Given the description of an element on the screen output the (x, y) to click on. 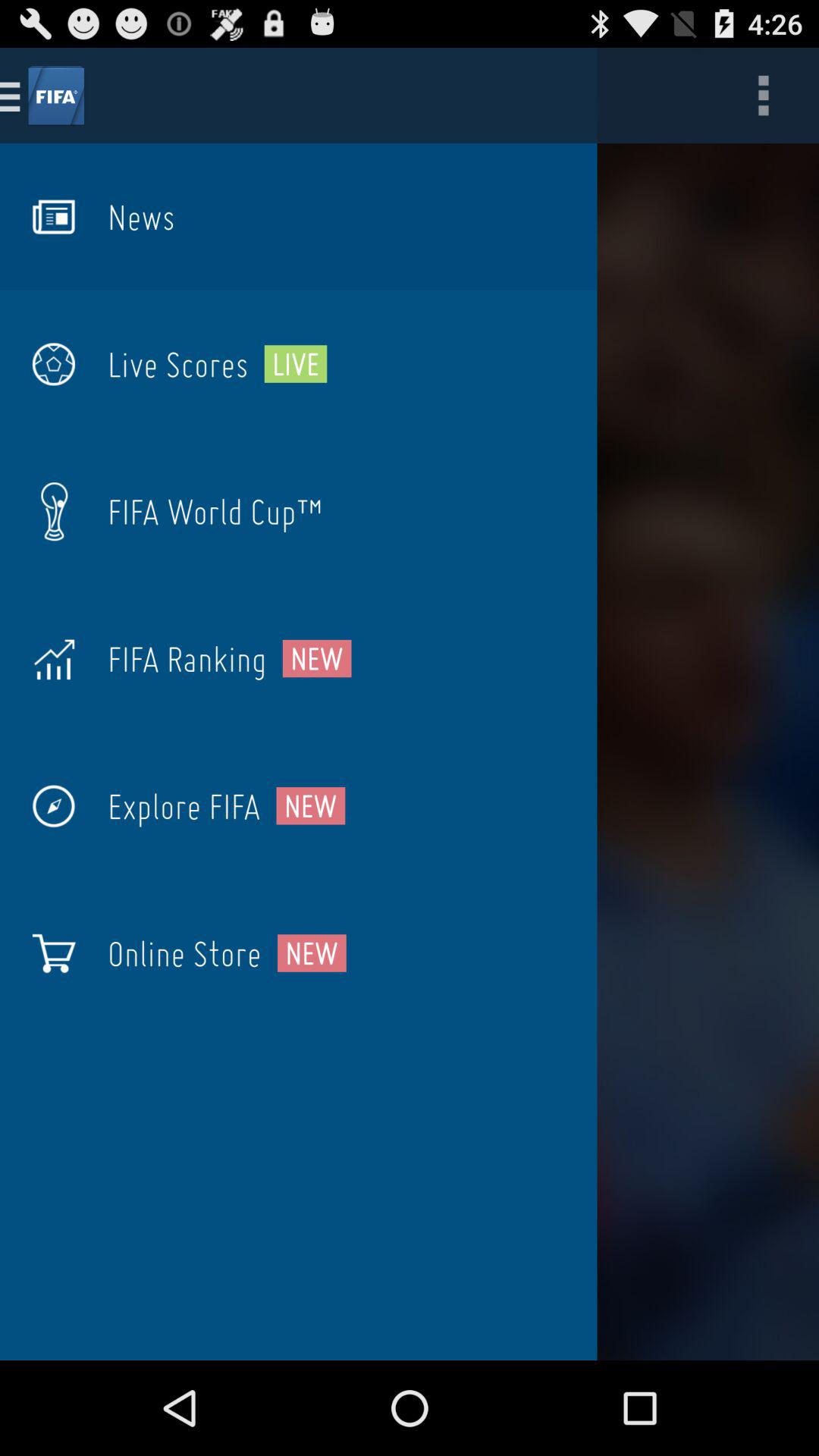
choose explore fifa icon (183, 805)
